Given the description of an element on the screen output the (x, y) to click on. 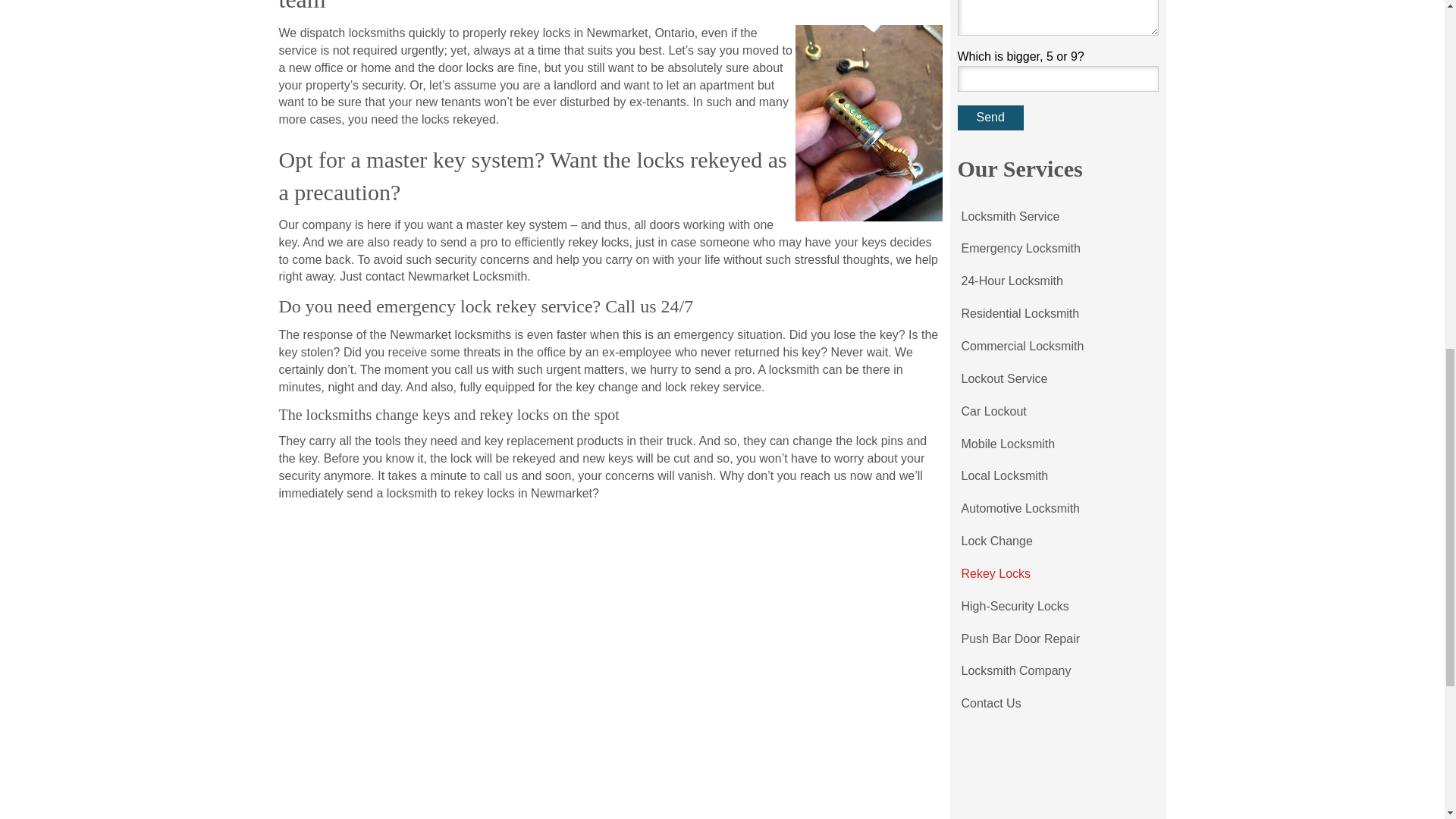
Local Locksmith (1004, 476)
Residential Locksmith (1019, 314)
Send (989, 117)
Commercial Locksmith (1021, 346)
Automotive Locksmith (1019, 509)
24-Hour Locksmith (1011, 281)
Locksmith Service (1009, 216)
Lockout Service (1003, 379)
Emergency Locksmith (1019, 248)
Lock Change (996, 541)
